Given the description of an element on the screen output the (x, y) to click on. 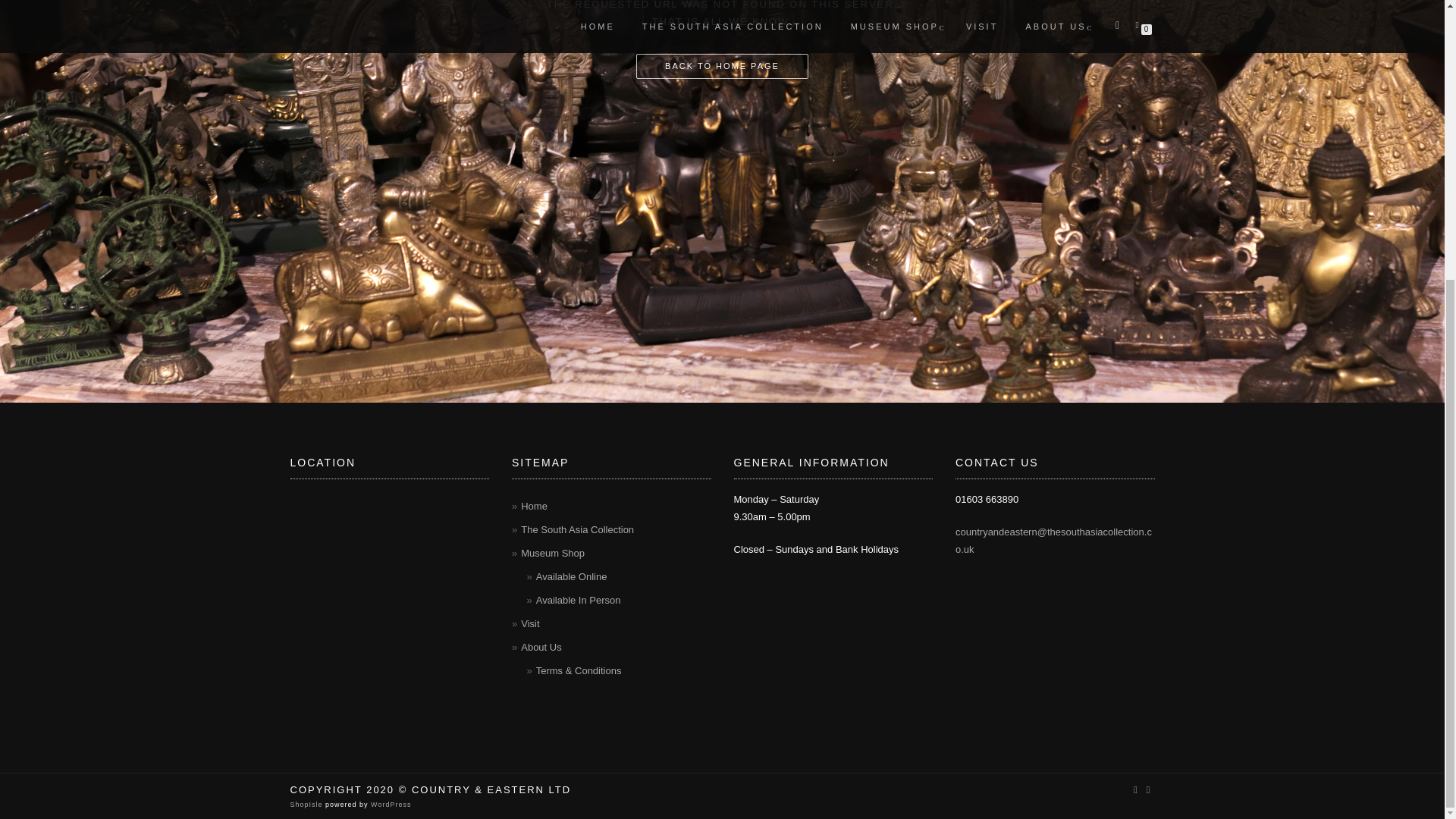
Museum Shop (553, 552)
WordPress (390, 804)
Available Online (571, 576)
Available In Person (578, 600)
About Us (540, 646)
Visit (529, 623)
Home (534, 505)
BACK TO HOME PAGE (722, 66)
ShopIsle (306, 804)
The South Asia Collection (577, 529)
